Given the description of an element on the screen output the (x, y) to click on. 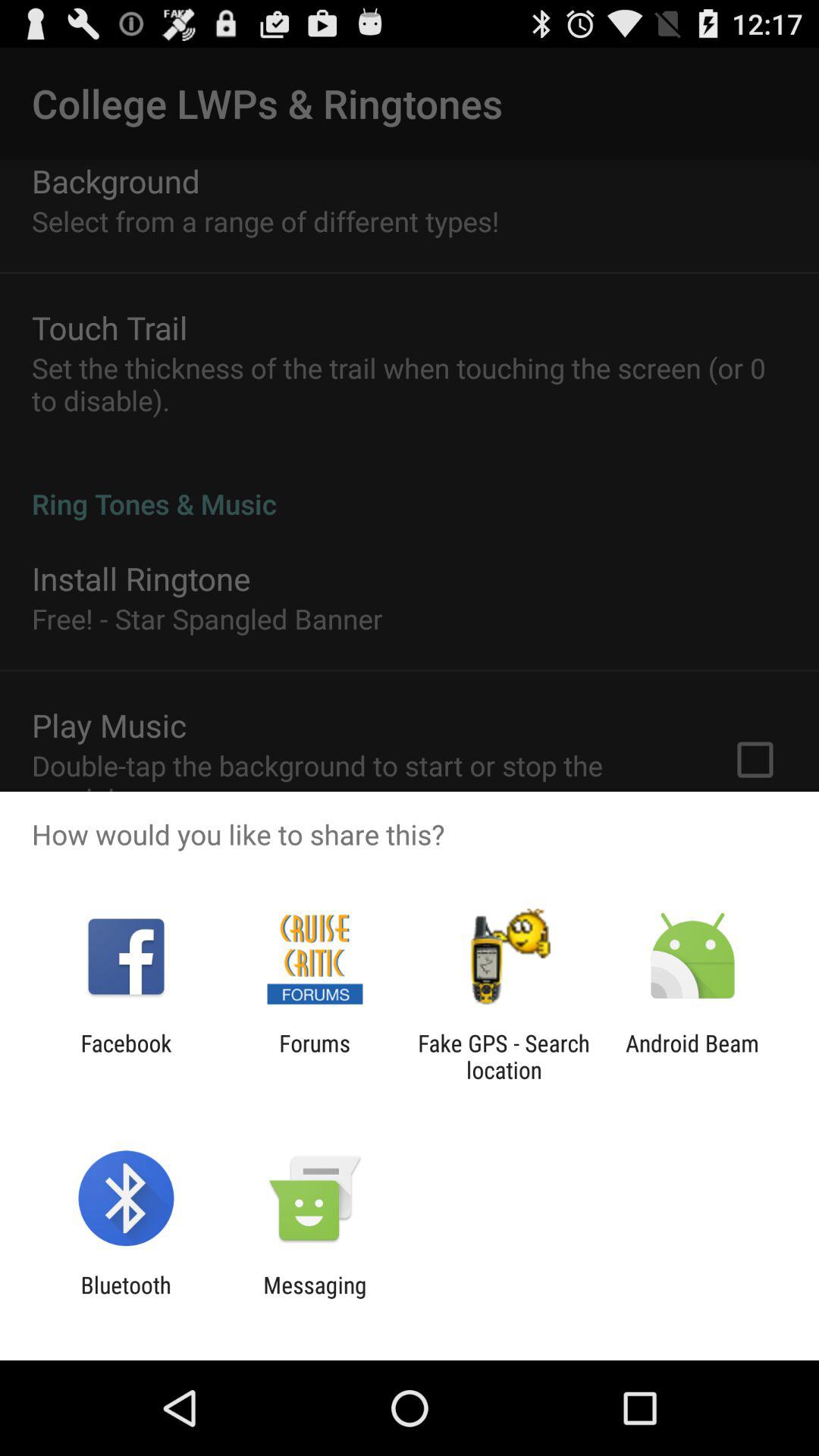
jump to messaging icon (314, 1298)
